Given the description of an element on the screen output the (x, y) to click on. 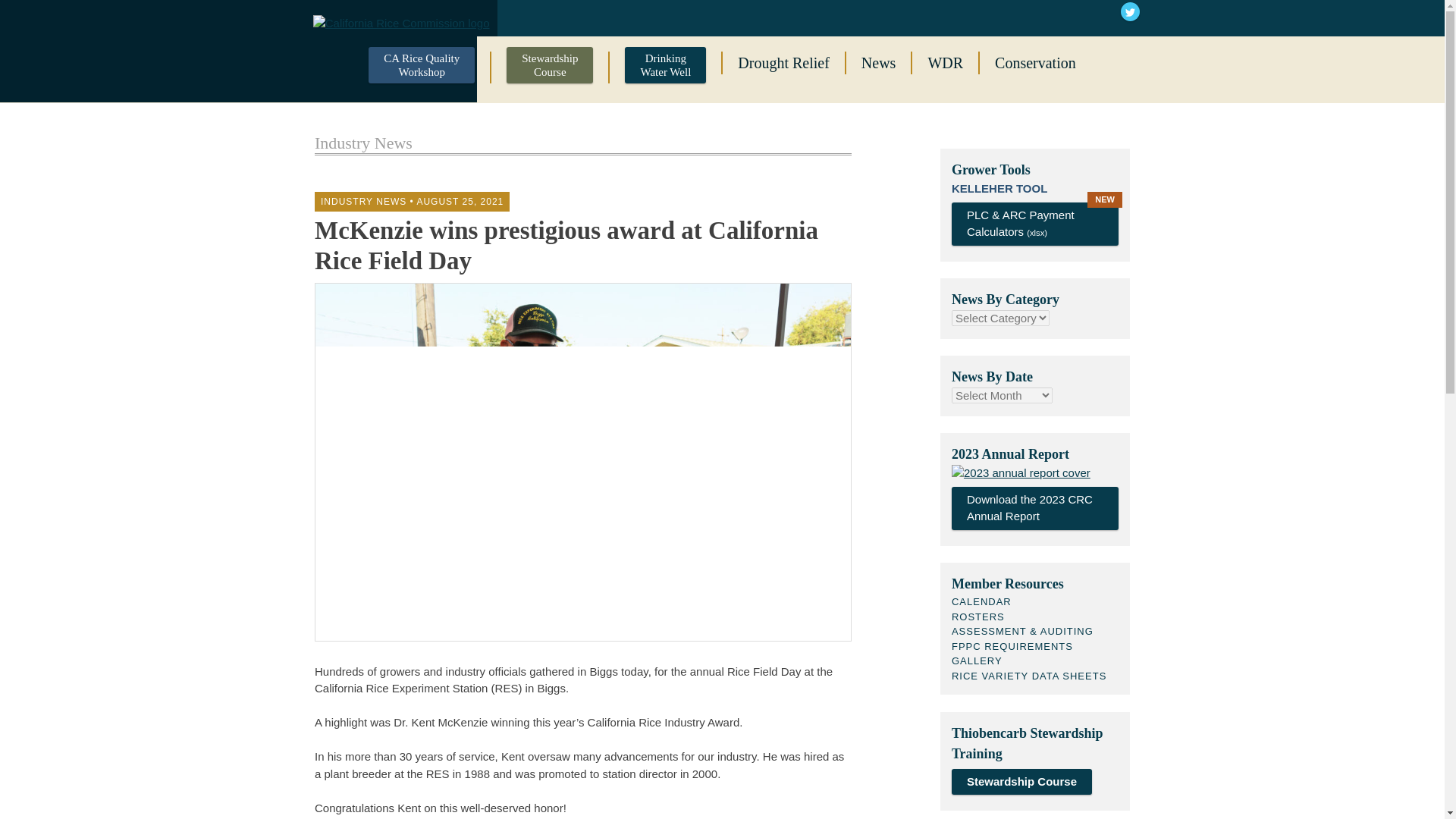
FPPC REQUIREMENTS (1012, 645)
WDR (945, 62)
CALENDAR (981, 601)
ROSTERS (978, 616)
Twitter (1130, 10)
AUGUST 25, 2021 (459, 201)
Download the 2023 CRC Annual Report (1035, 507)
California (755, 16)
Conservation (1034, 62)
News (878, 62)
Drought Relief (664, 67)
